Given the description of an element on the screen output the (x, y) to click on. 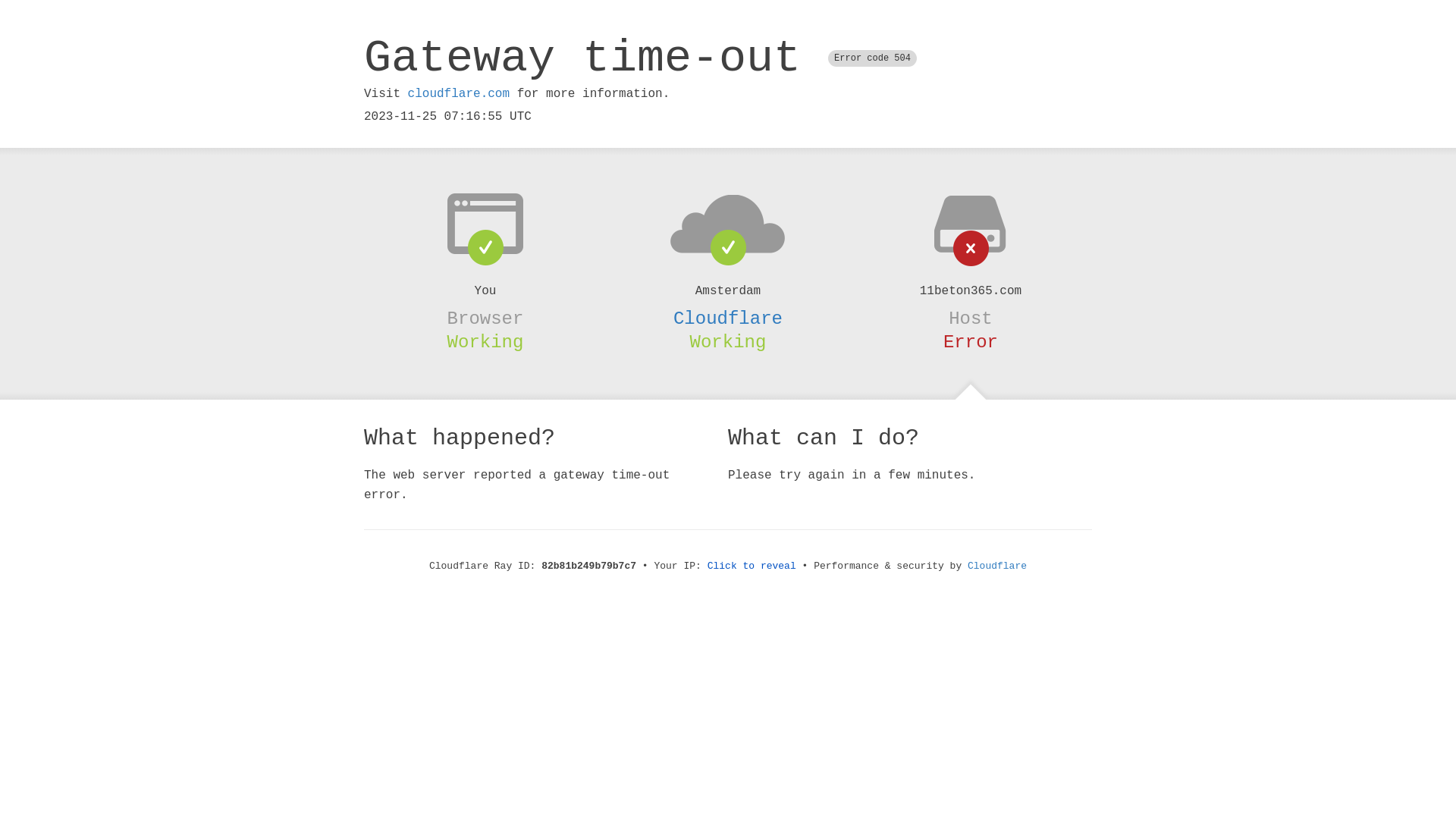
Cloudflare Element type: text (996, 565)
Cloudflare Element type: text (727, 318)
cloudflare.com Element type: text (458, 93)
Click to reveal Element type: text (751, 565)
